Given the description of an element on the screen output the (x, y) to click on. 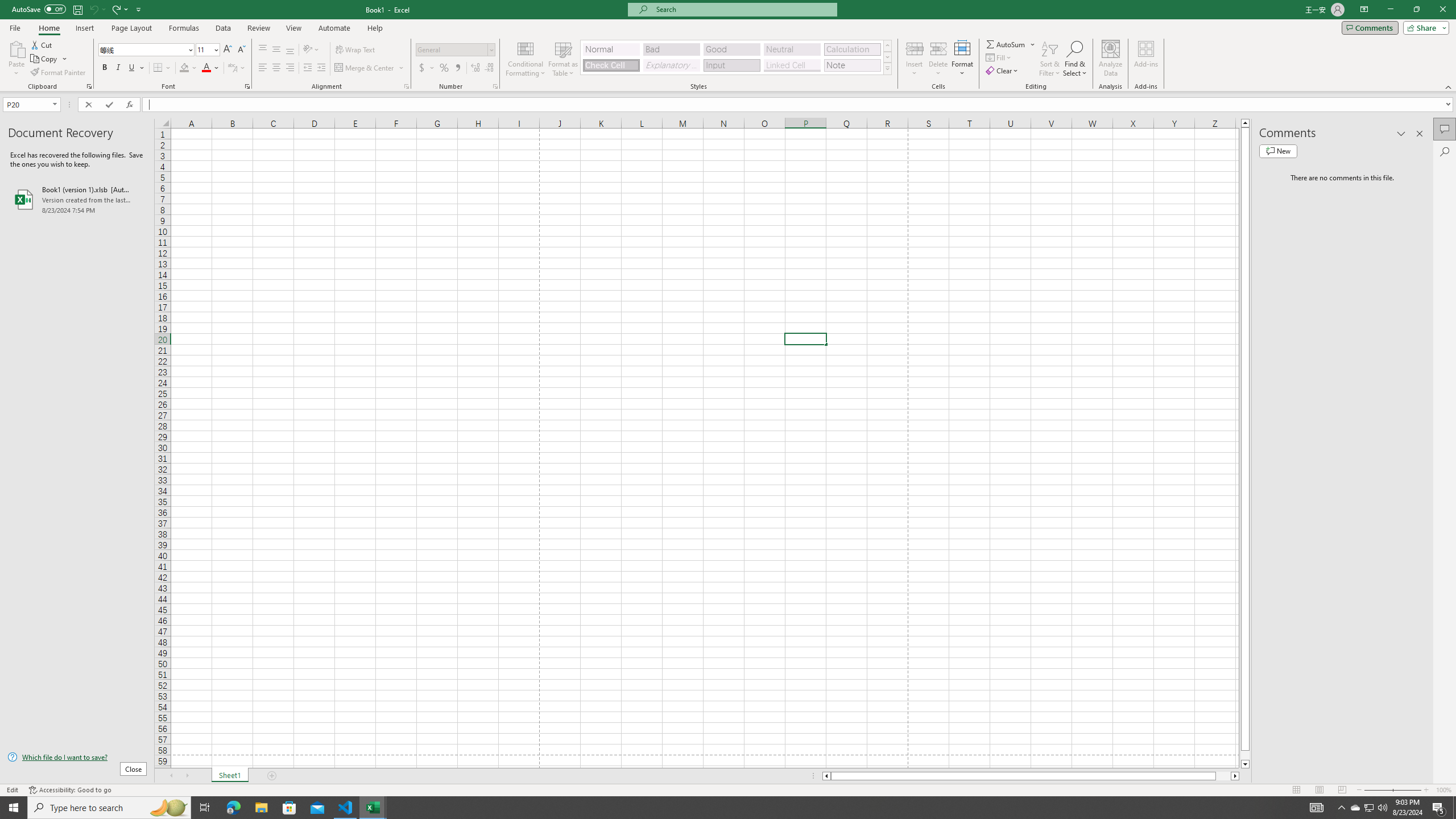
Comma Style (457, 67)
Calculation (852, 49)
Wrap Text (355, 49)
Scroll Right (187, 775)
Formula Bar (799, 104)
Bottom Align (290, 49)
Save (77, 9)
Insert Cells (914, 48)
Close (1442, 9)
Insert (83, 28)
Row Down (887, 56)
Which file do I want to save? (77, 757)
Restore Down (1416, 9)
Column right (1235, 775)
